Given the description of an element on the screen output the (x, y) to click on. 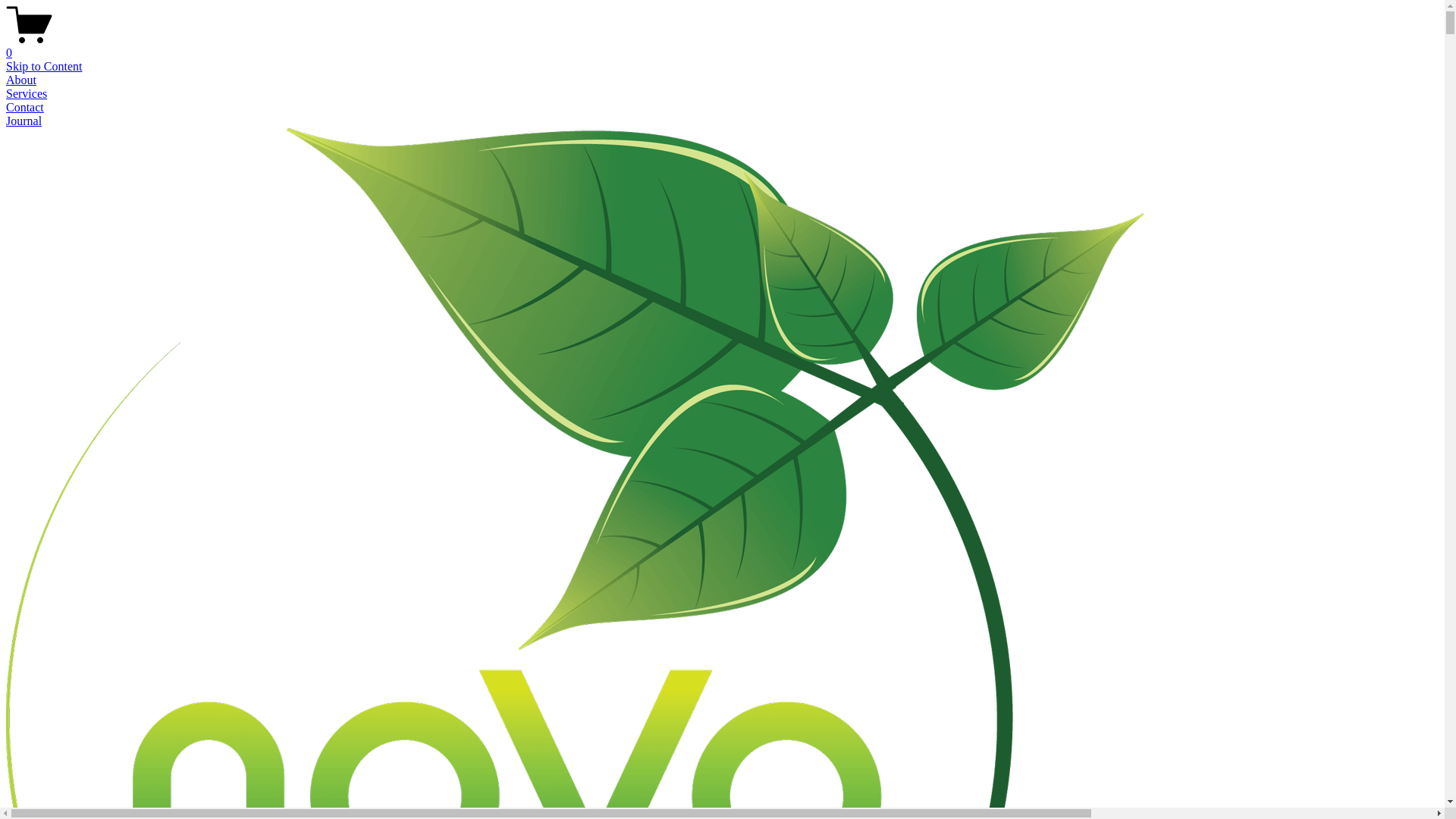
Journal Element type: text (23, 120)
Skip to Content Element type: text (43, 65)
0 Element type: text (722, 45)
Services Element type: text (26, 93)
About Element type: text (21, 79)
Contact Element type: text (24, 106)
